Given the description of an element on the screen output the (x, y) to click on. 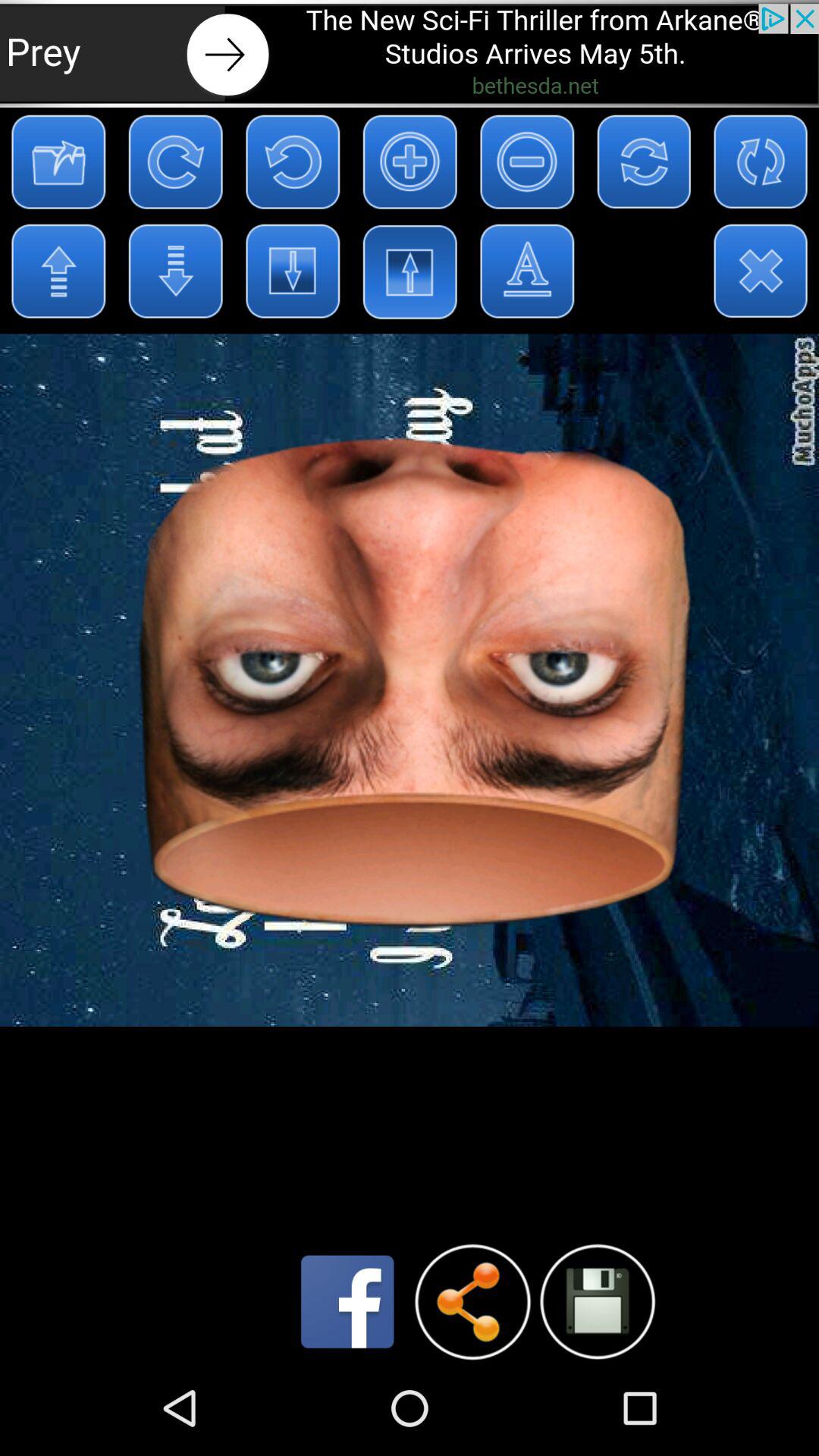
facebook button (347, 1301)
